Given the description of an element on the screen output the (x, y) to click on. 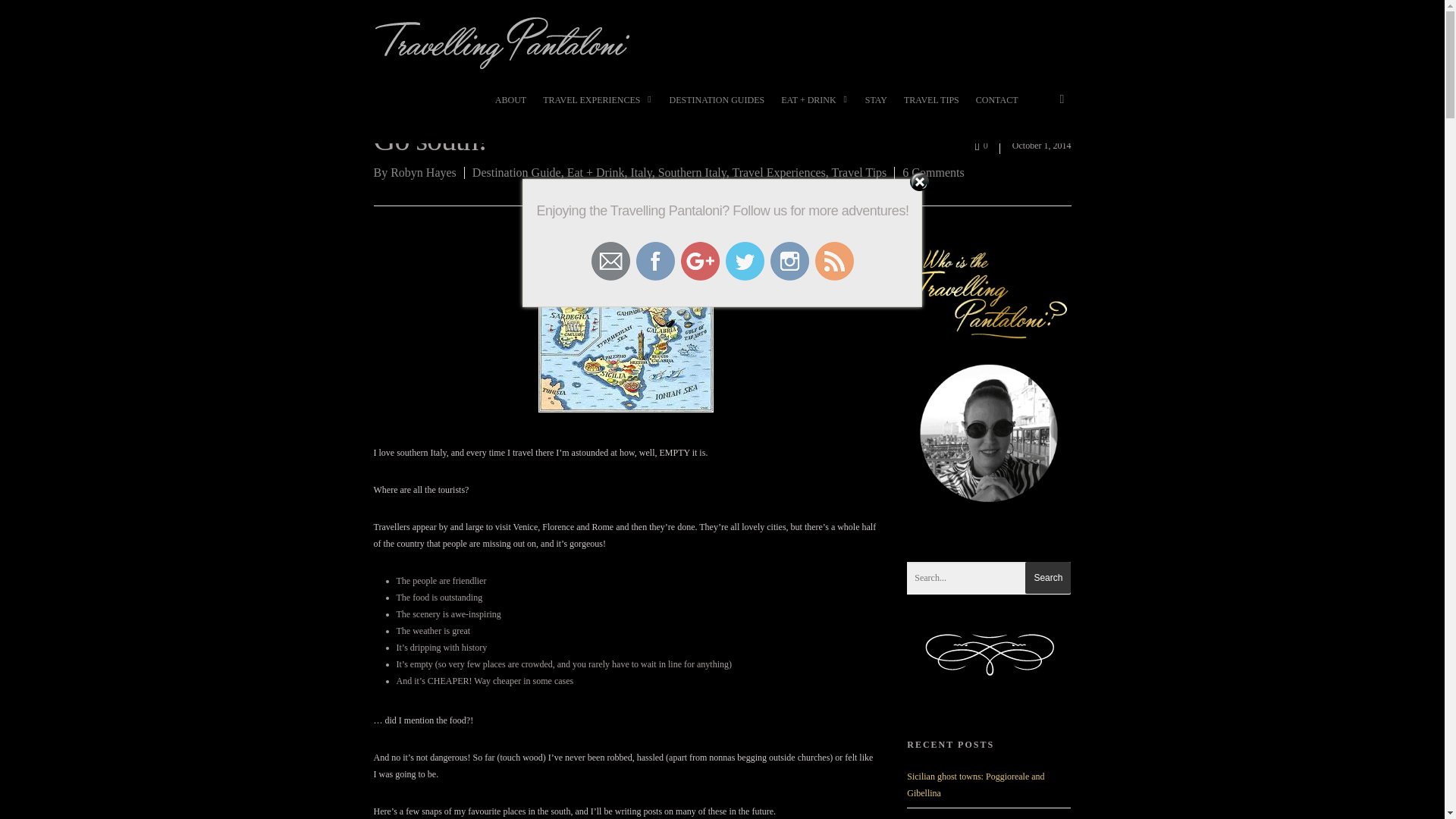
Love this (986, 143)
Search for: (988, 577)
TRAVEL EXPERIENCES (597, 107)
Robyn Hayes (423, 172)
DESTINATION GUIDES (716, 107)
ABOUT (510, 107)
STAY (876, 107)
CONTACT (997, 107)
6 Comments (932, 172)
RSS (834, 260)
Travel Experiences (778, 172)
TRAVEL TIPS (931, 107)
Follow by Email (610, 260)
Posts by Robyn Hayes (423, 172)
Italy (640, 172)
